Given the description of an element on the screen output the (x, y) to click on. 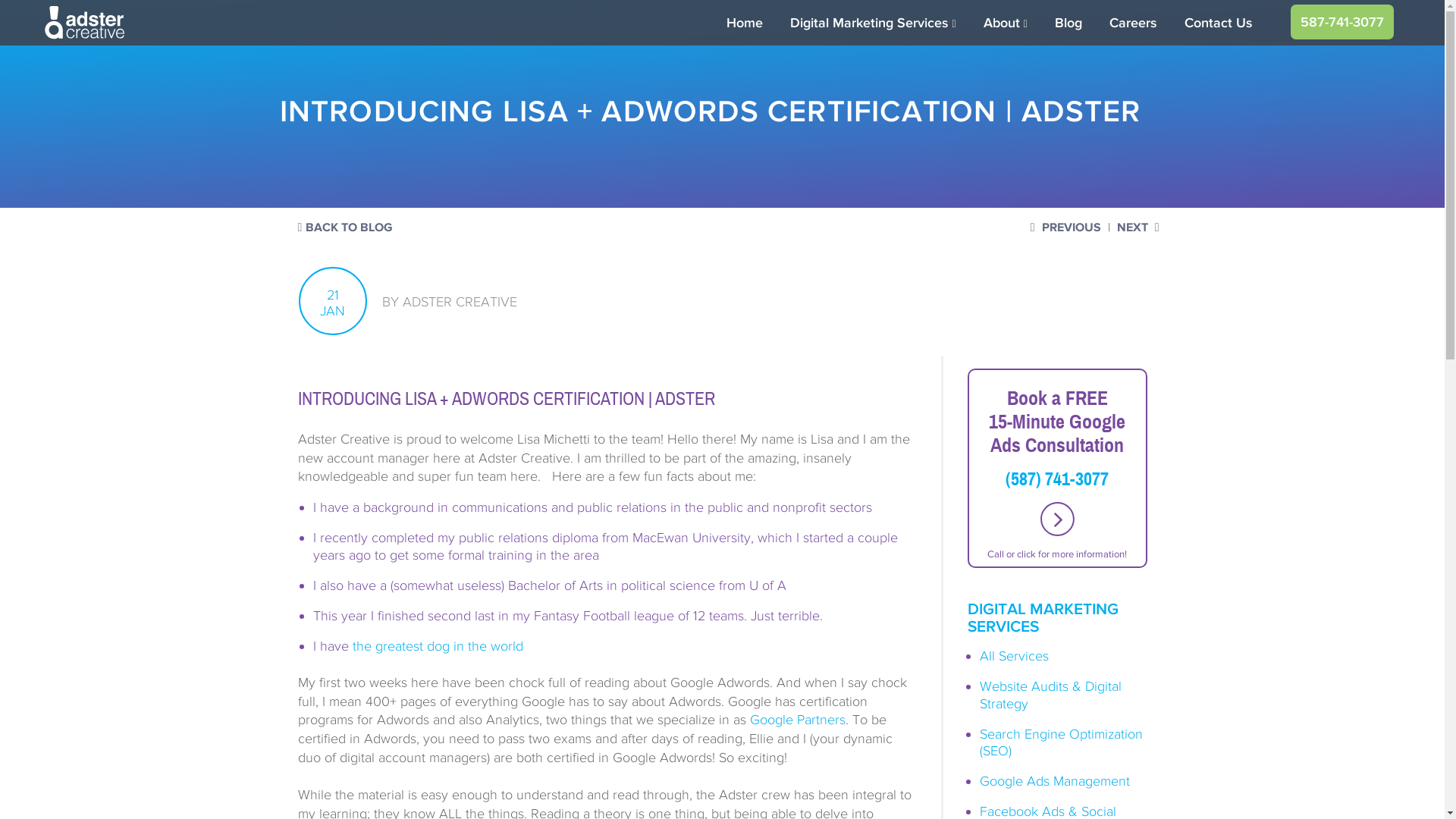
587-741-3077 (1341, 21)
By Adster Creative (448, 300)
Careers (1132, 22)
Contact Us (1218, 22)
Home (744, 22)
Digital Marketing Services (872, 22)
About (1005, 22)
Blog (1068, 22)
